Given the description of an element on the screen output the (x, y) to click on. 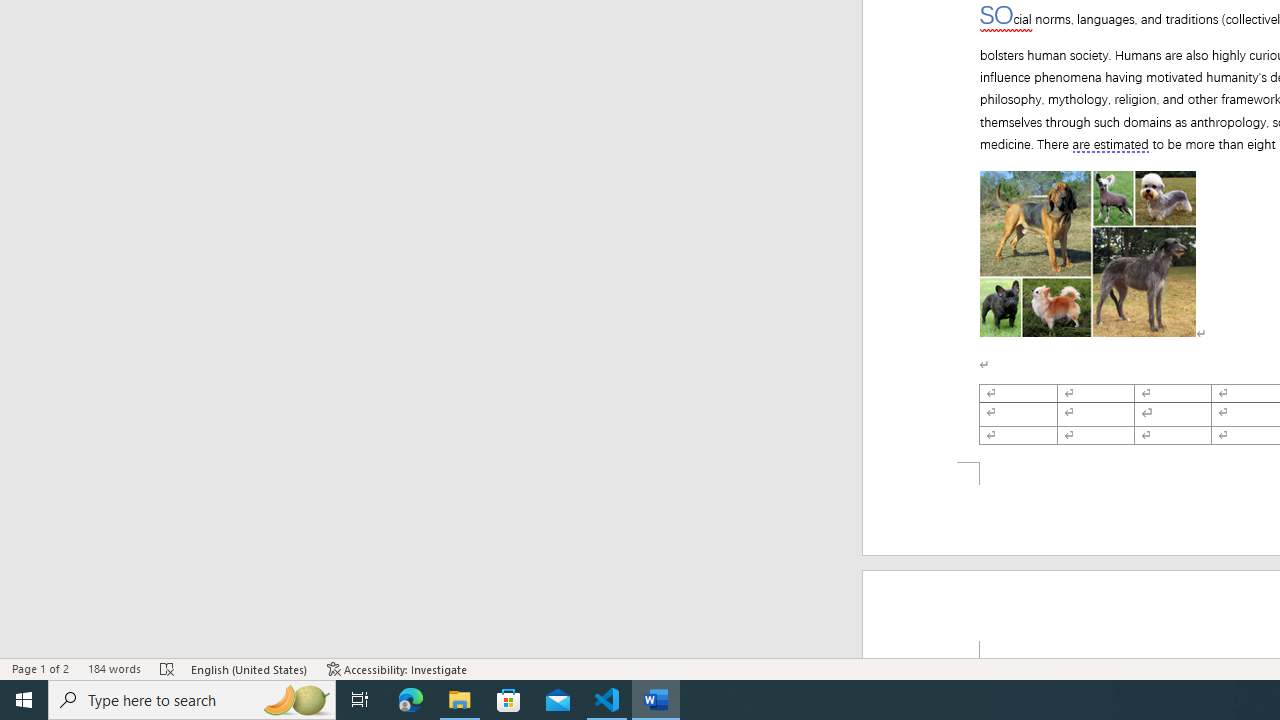
Page Number Page 1 of 2 (39, 668)
Accessibility Checker Accessibility: Investigate (397, 668)
Language English (United States) (250, 668)
Spelling and Grammar Check Errors (168, 668)
Morphological variation in six dogs (1087, 253)
